Given the description of an element on the screen output the (x, y) to click on. 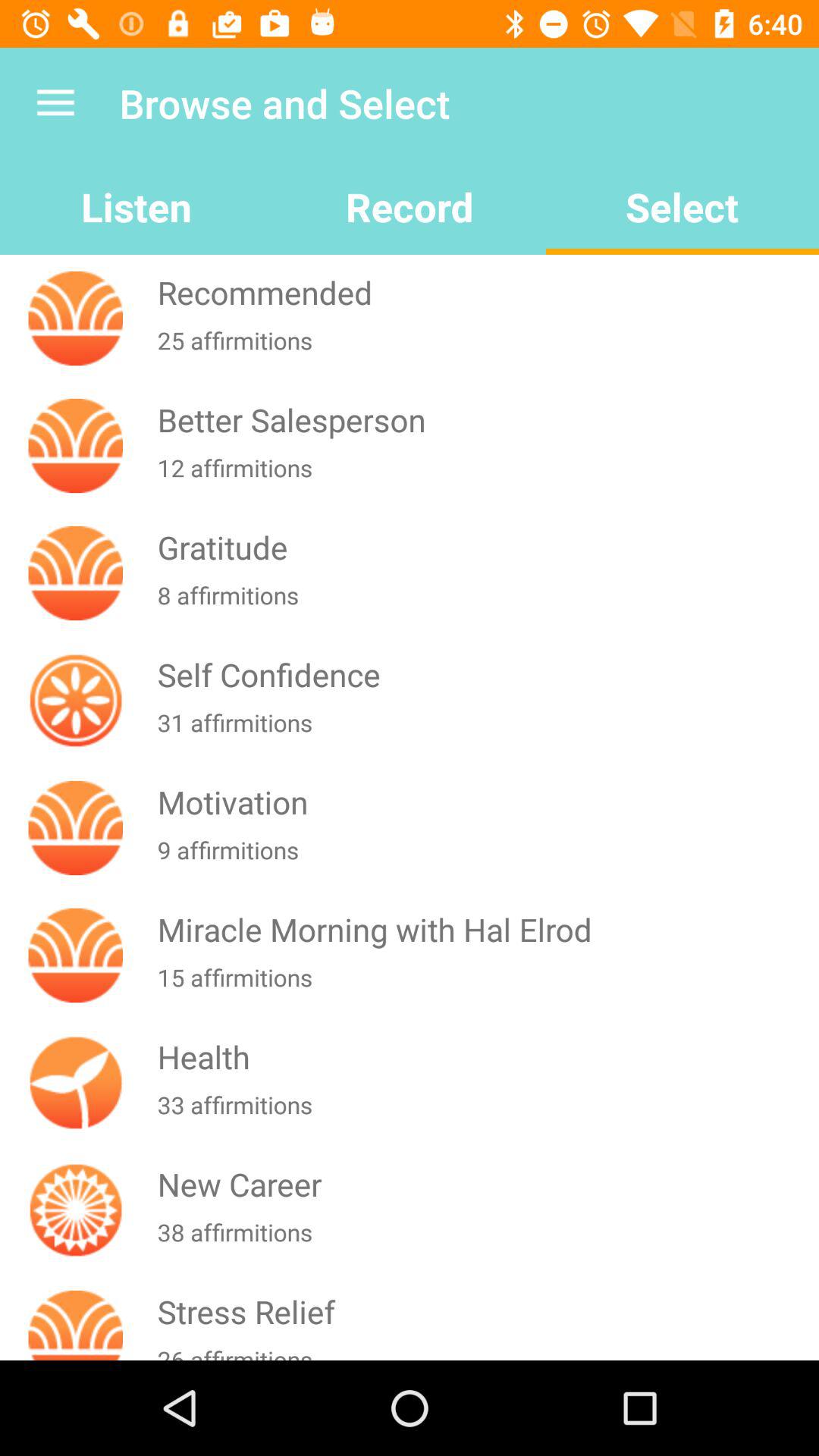
turn on app next to browse and select item (55, 103)
